Given the description of an element on the screen output the (x, y) to click on. 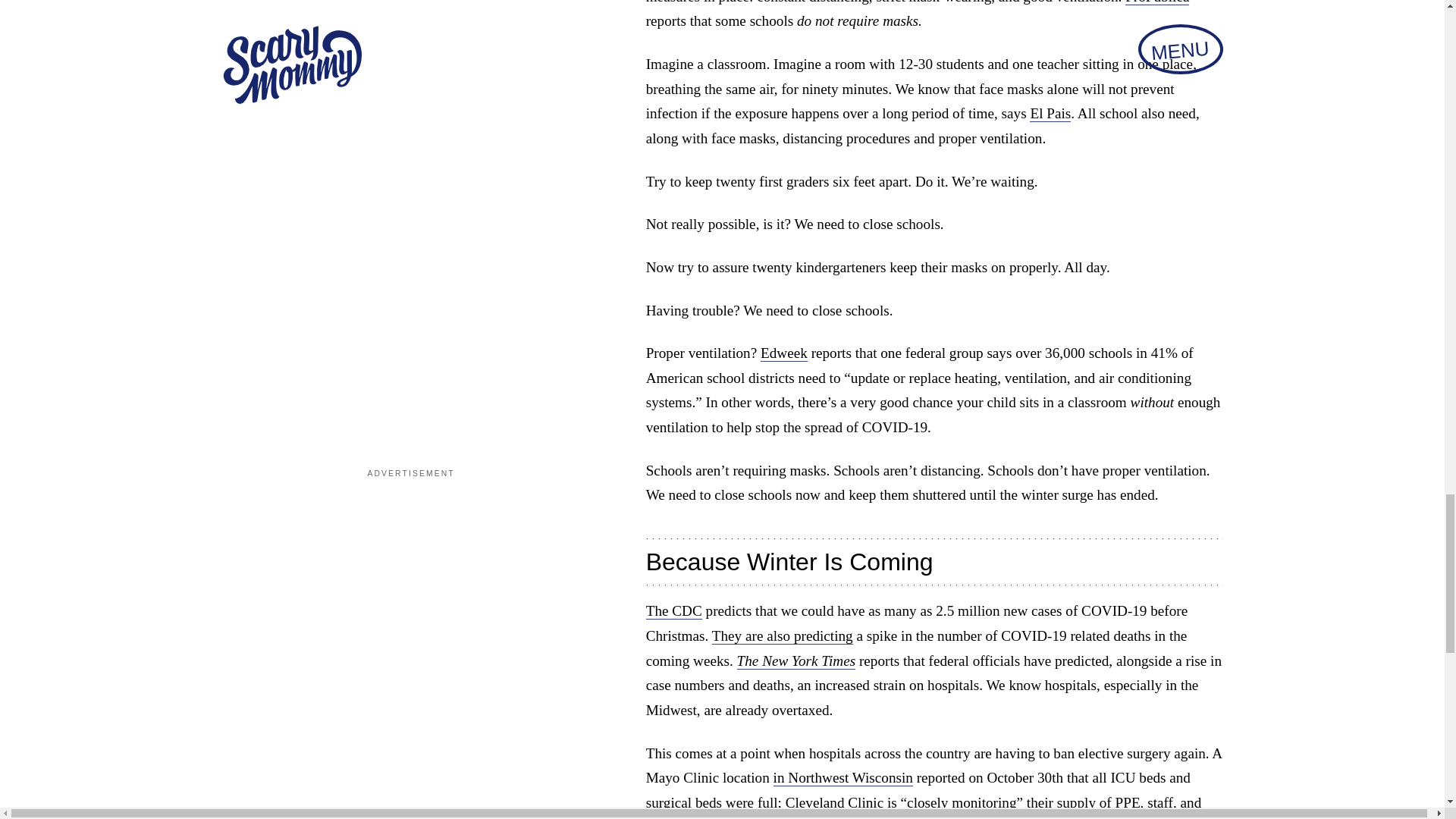
in Northwest Wisconsin (842, 777)
The New York Times (796, 660)
Cleveland Clinic (834, 802)
ProPublica (1157, 2)
They are also predicting (782, 636)
The CDC (673, 610)
Edweek (784, 352)
El Pais (1049, 113)
